Given the description of an element on the screen output the (x, y) to click on. 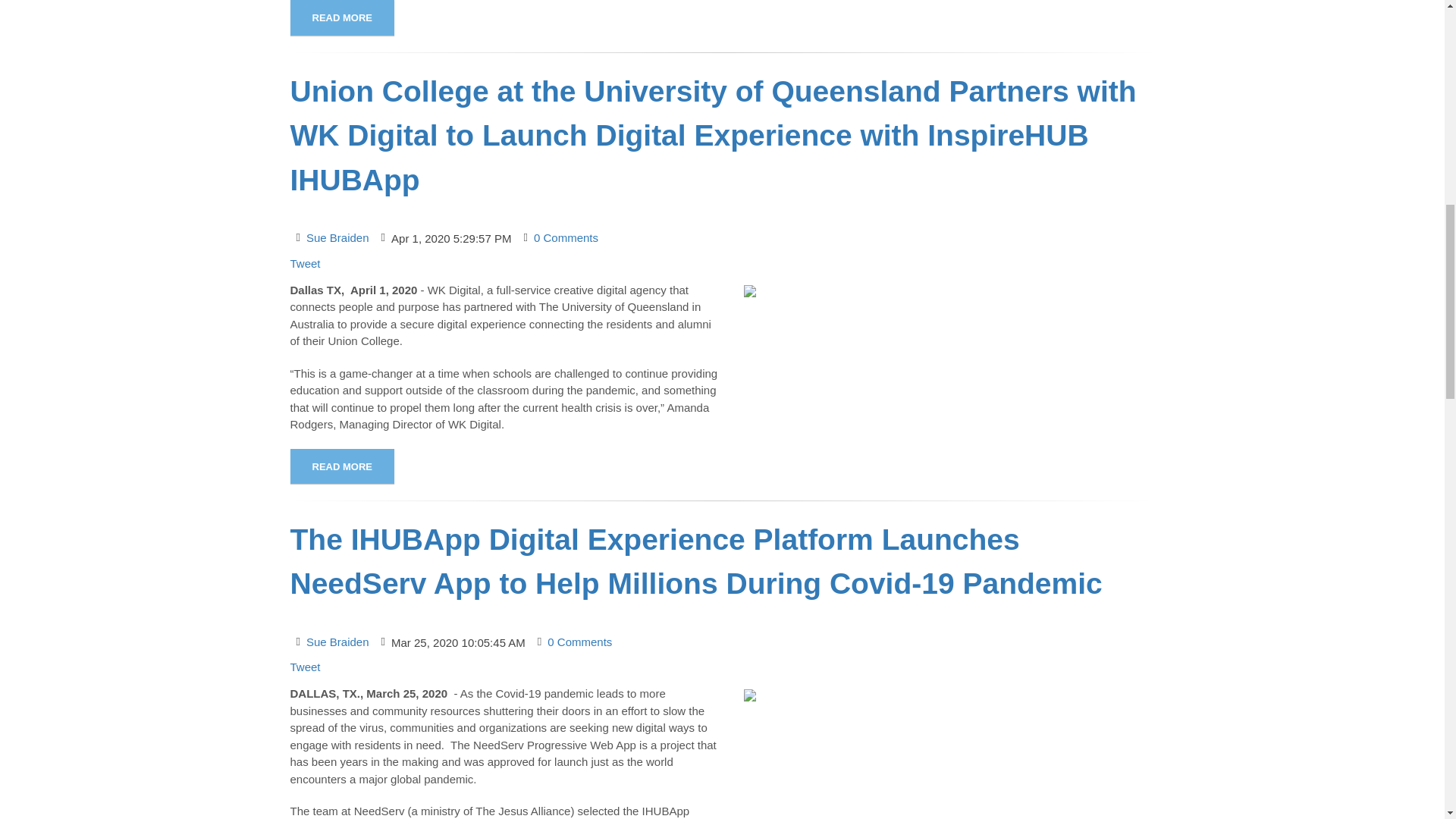
Tweet (304, 263)
0 Comments (566, 237)
READ MORE (341, 17)
Sue Braiden (337, 237)
